Given the description of an element on the screen output the (x, y) to click on. 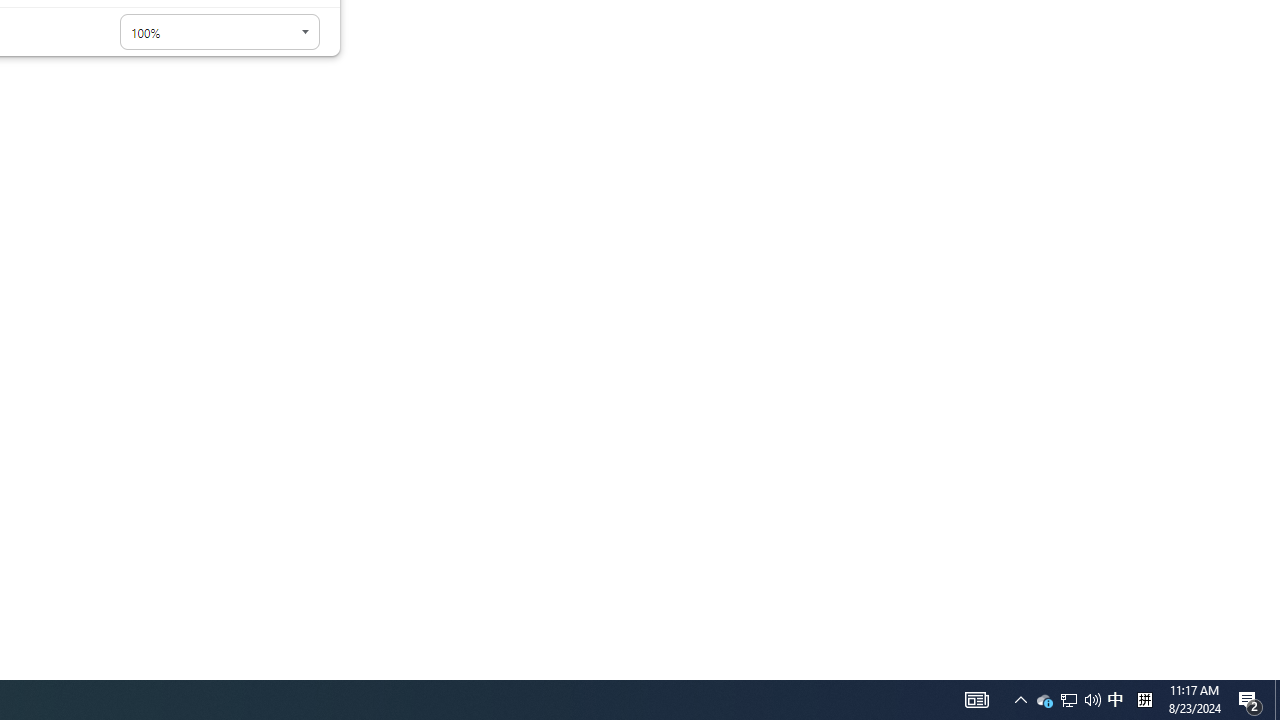
Page zoom (219, 32)
